Given the description of an element on the screen output the (x, y) to click on. 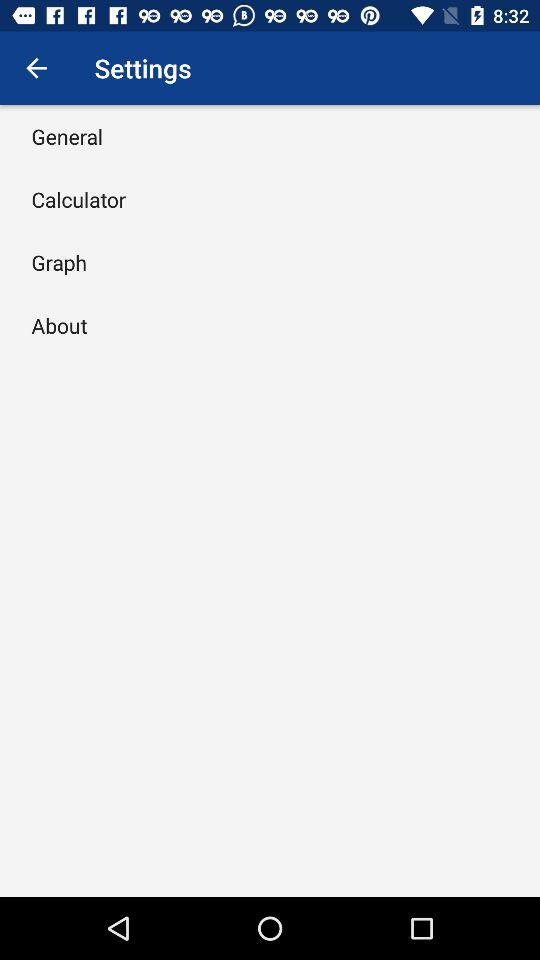
open the icon to the left of settings (36, 68)
